Given the description of an element on the screen output the (x, y) to click on. 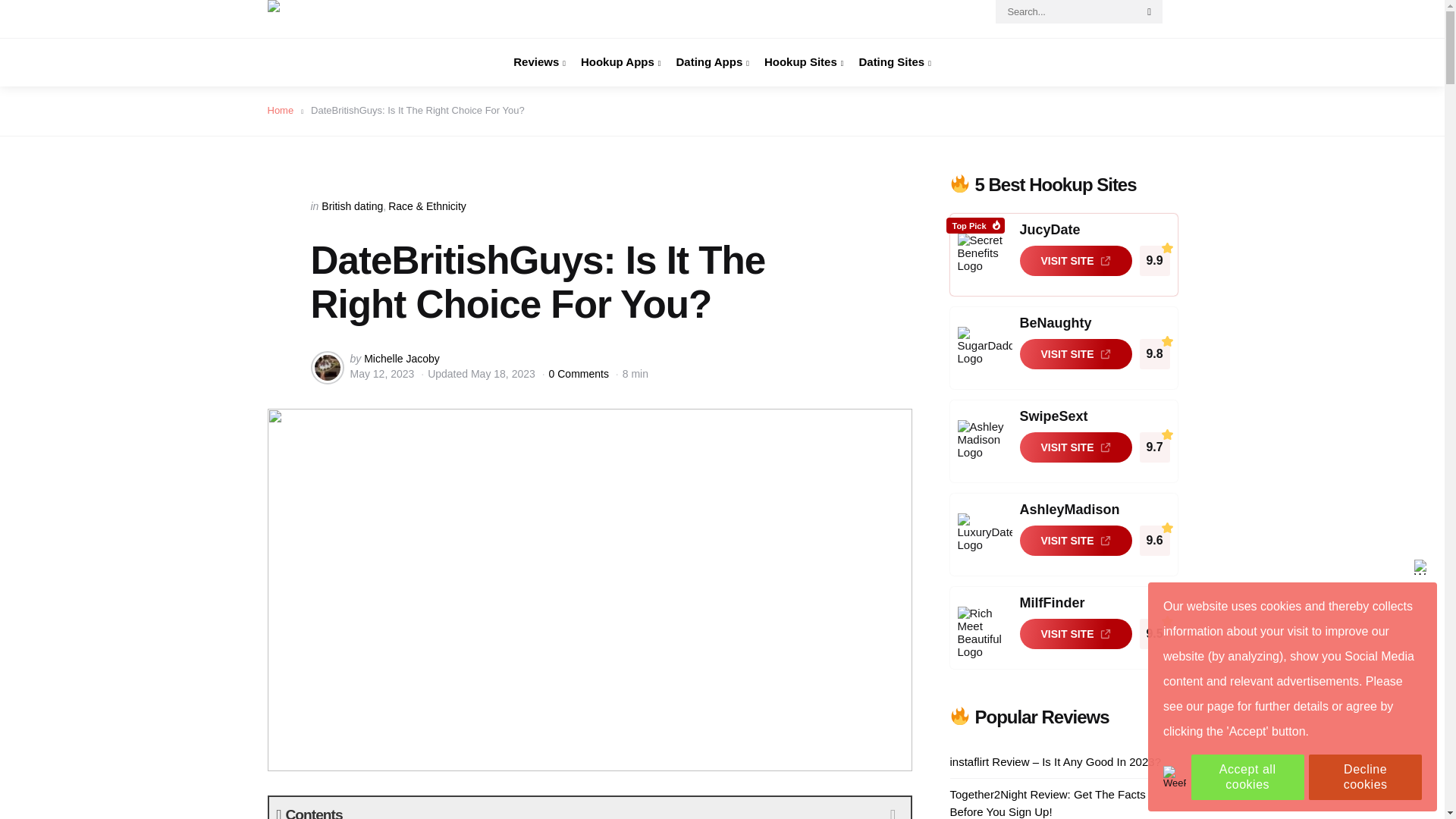
Search (1149, 11)
Manage cookie settings (1174, 776)
